Given the description of an element on the screen output the (x, y) to click on. 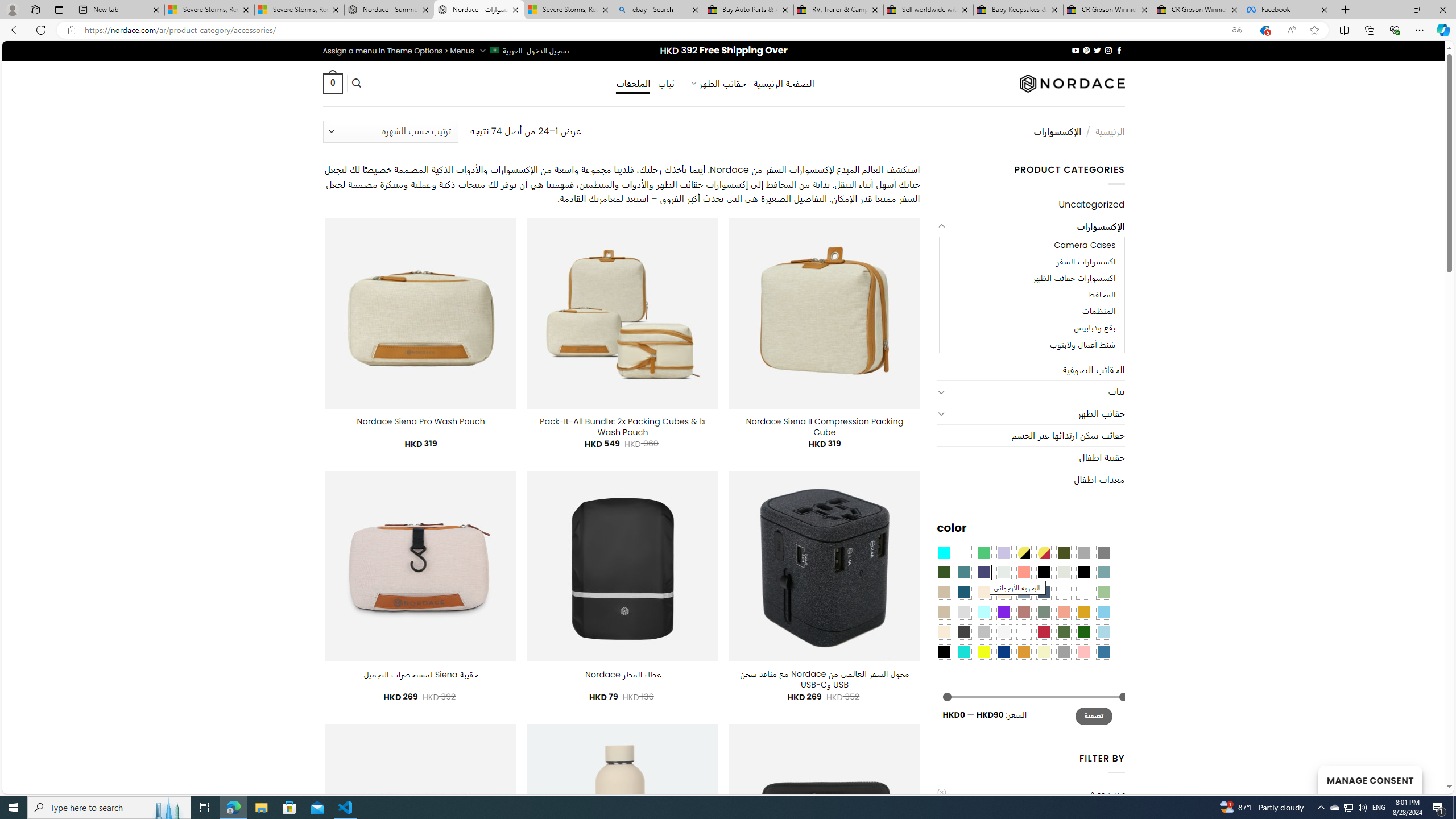
Capri Blue (963, 591)
Light Taupe (944, 611)
Rose (1023, 611)
